Given the description of an element on the screen output the (x, y) to click on. 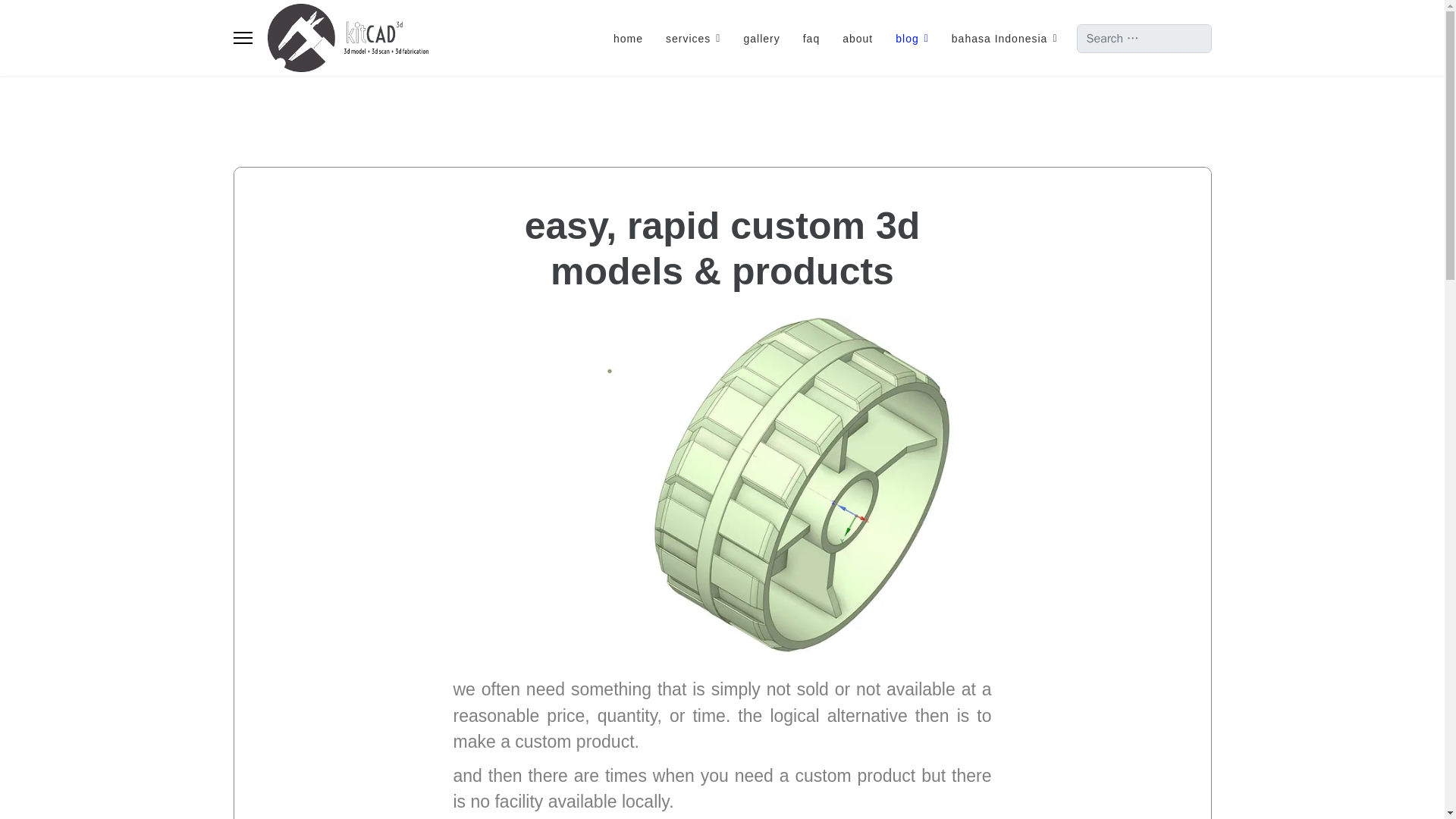
services (692, 38)
bahasa Indonesia (999, 38)
